Given the description of an element on the screen output the (x, y) to click on. 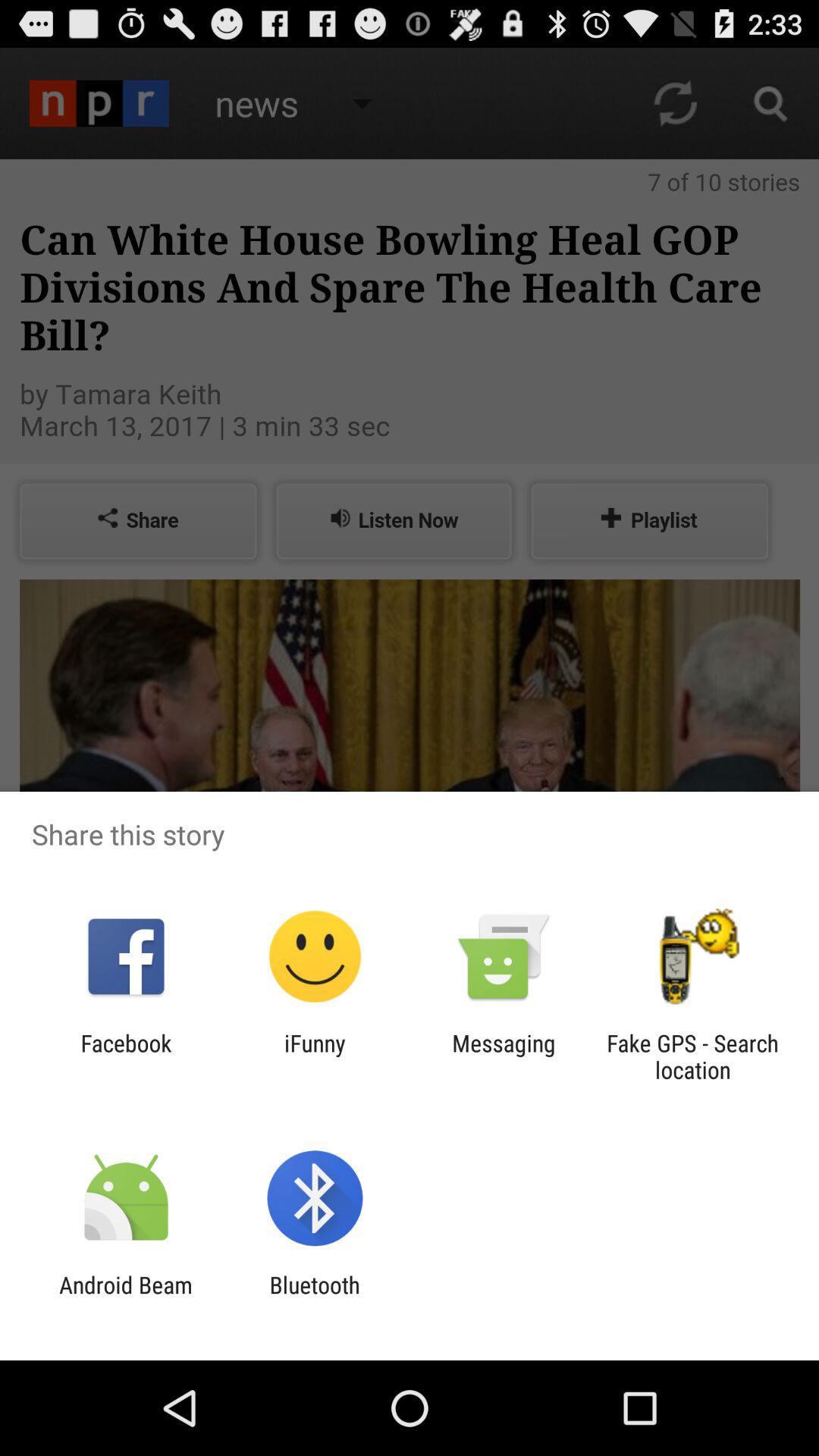
launch app next to the facebook icon (314, 1056)
